Given the description of an element on the screen output the (x, y) to click on. 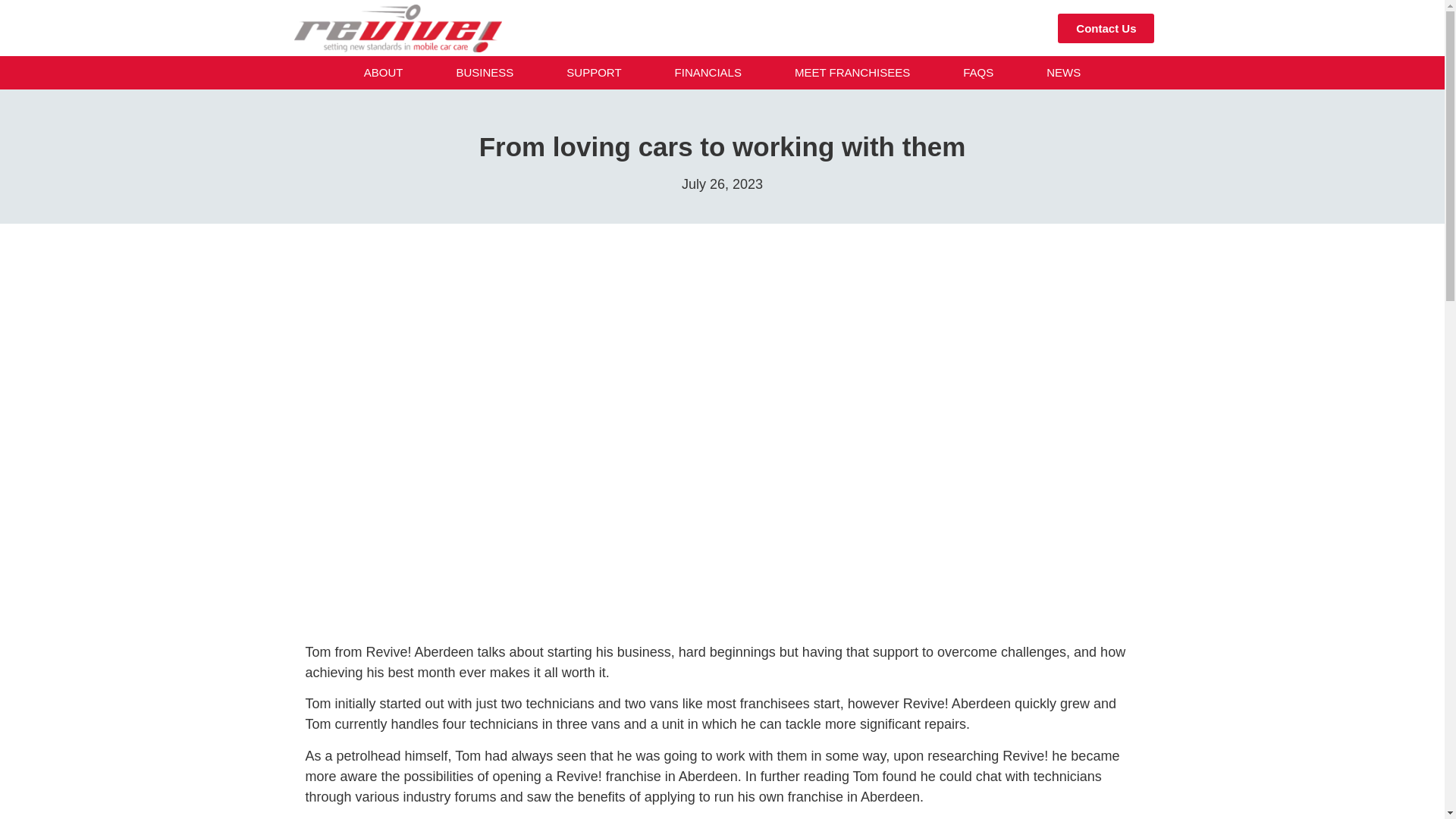
ABOUT (383, 72)
SUPPORT (593, 72)
MEET FRANCHISEES (851, 72)
REVIVE LOGO (398, 28)
NEWS (1063, 72)
FAQS (978, 72)
Contact Us (1106, 28)
FINANCIALS (708, 72)
BUSINESS (484, 72)
